Given the description of an element on the screen output the (x, y) to click on. 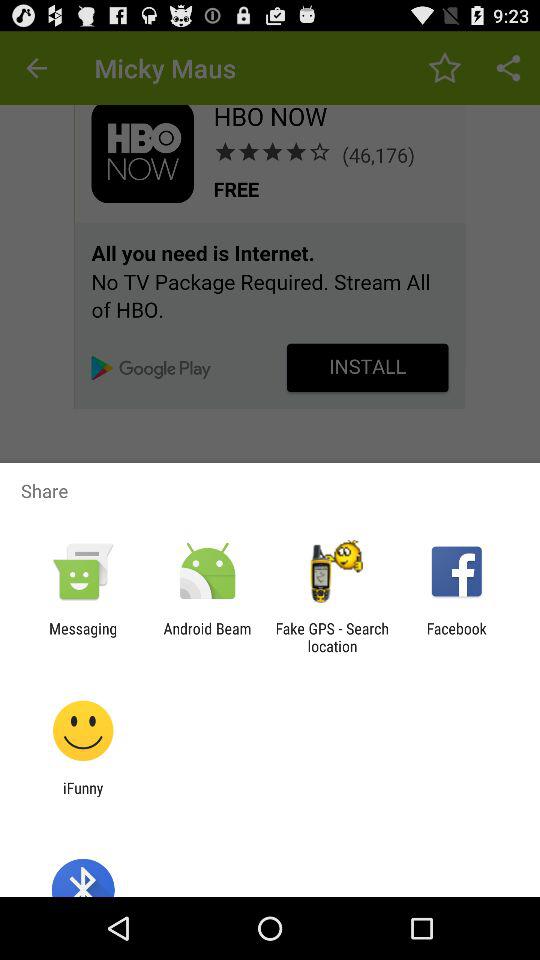
select app next to android beam app (83, 637)
